Given the description of an element on the screen output the (x, y) to click on. 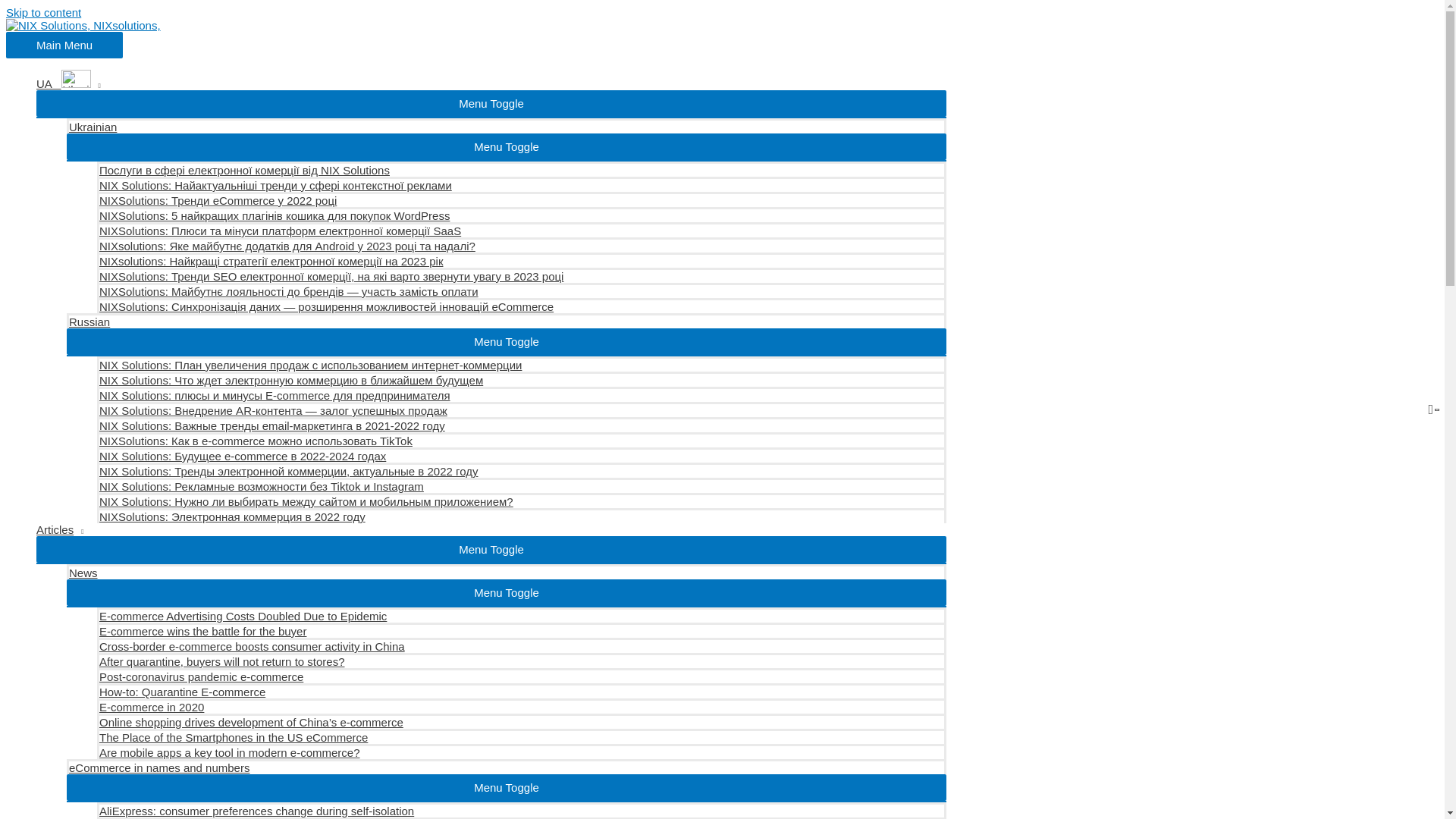
Menu Toggle (506, 341)
E-commerce Advertising Costs Doubled Due to Epidemic (521, 614)
Menu Toggle (491, 103)
Ukrainian (506, 125)
Main Menu (63, 44)
Menu Toggle (491, 549)
Cross-border e-commerce boosts consumer activity in China (521, 645)
Menu Toggle (506, 592)
Menu Toggle (506, 146)
How-to: Quarantine E-commerce (521, 690)
